Given the description of an element on the screen output the (x, y) to click on. 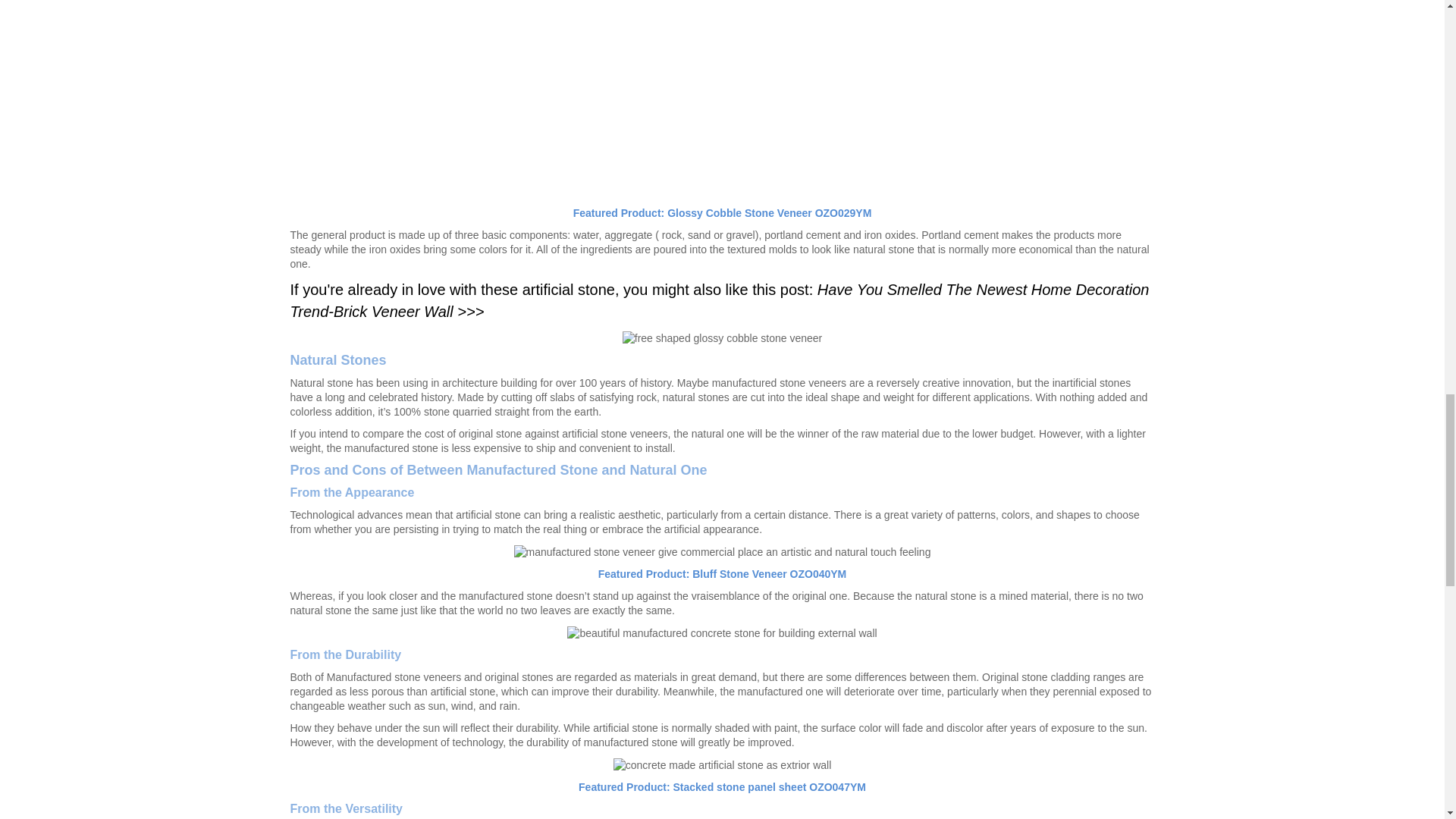
wholesale stone veneer for extiror wall (722, 99)
concrete made artificial stone as extrior wall (722, 765)
free shaped glossy cobble stone veneer (722, 337)
